Given the description of an element on the screen output the (x, y) to click on. 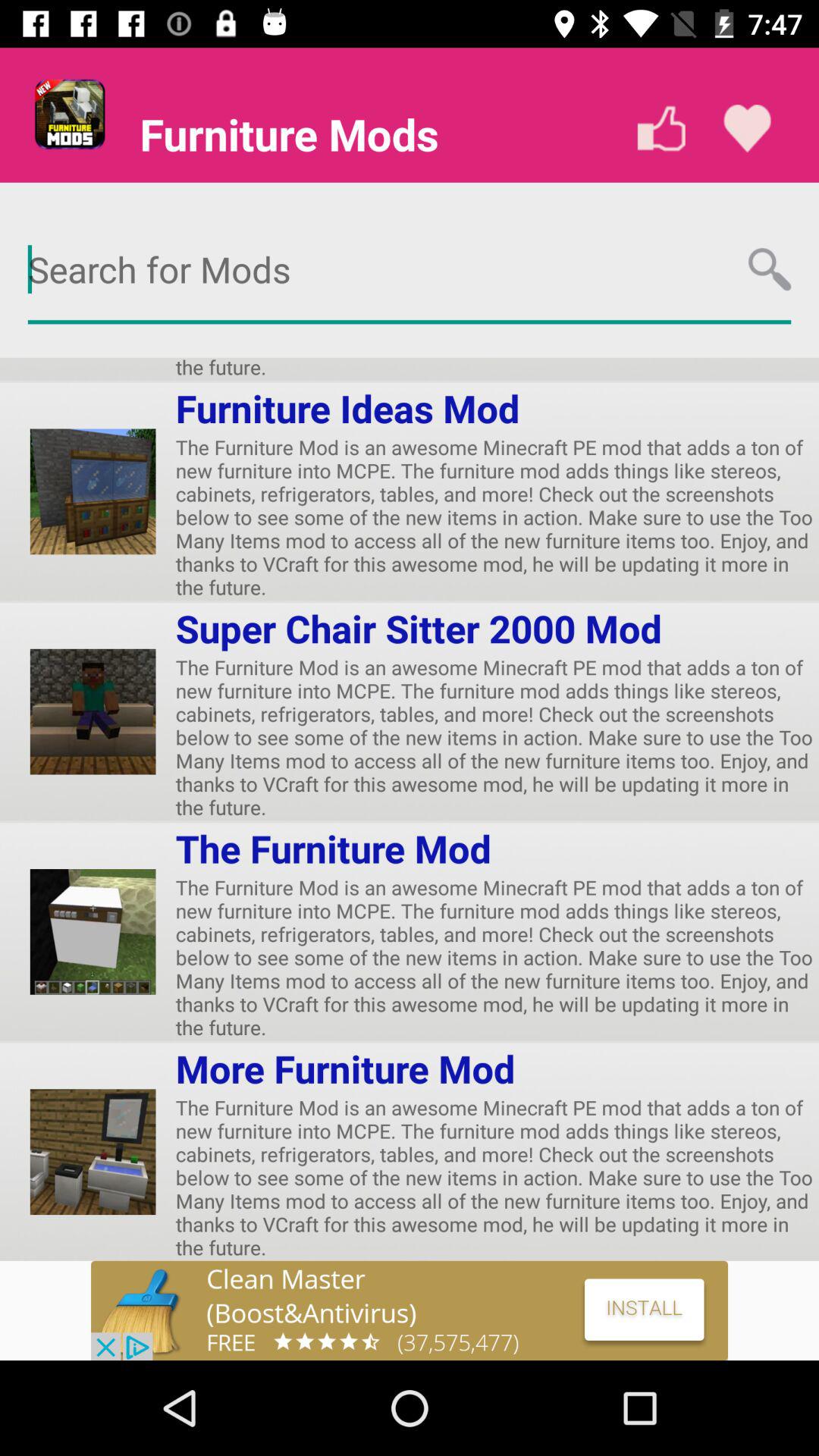
click to like (661, 128)
